Given the description of an element on the screen output the (x, y) to click on. 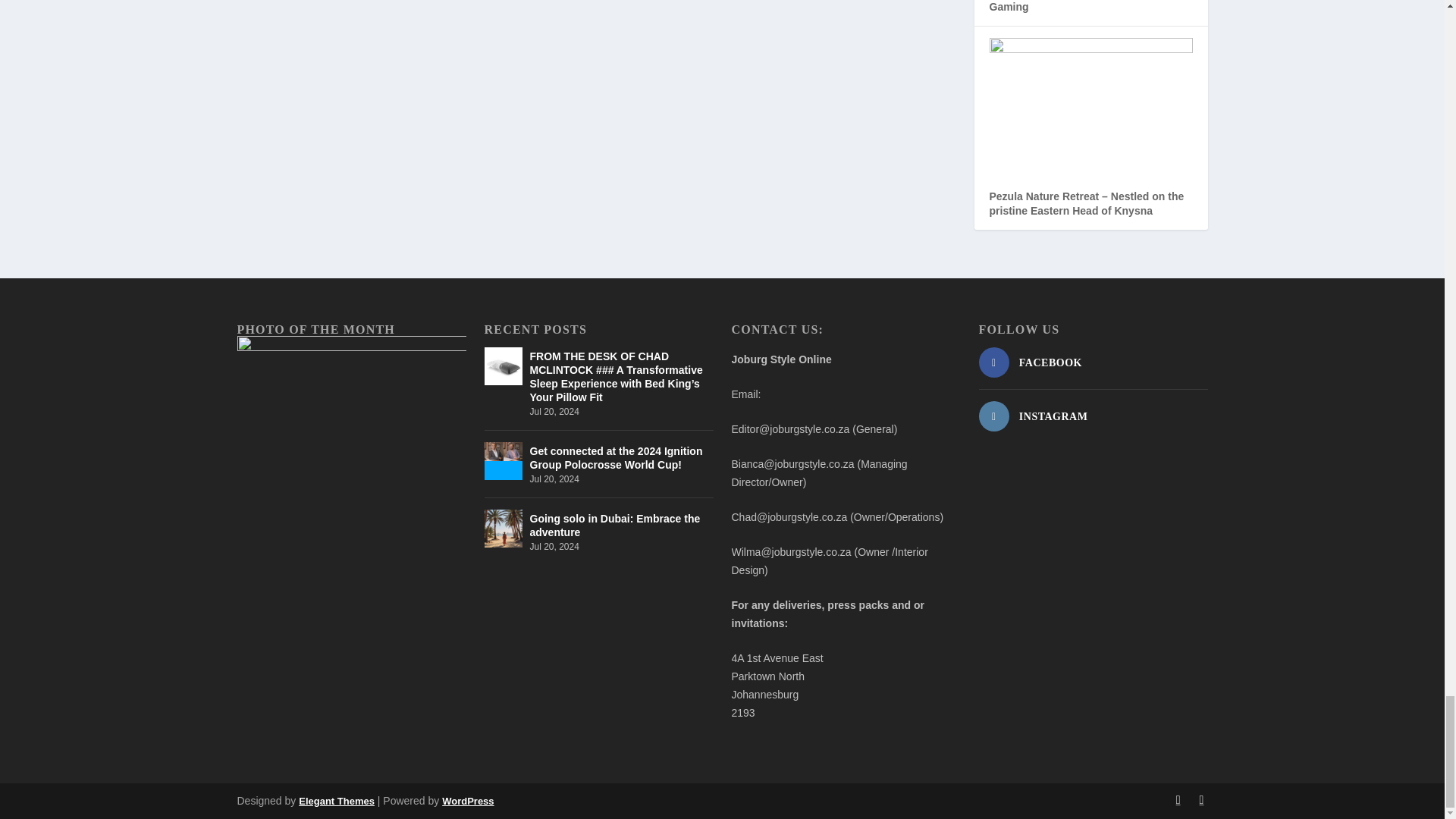
Photo of the Week (350, 410)
